Given the description of an element on the screen output the (x, y) to click on. 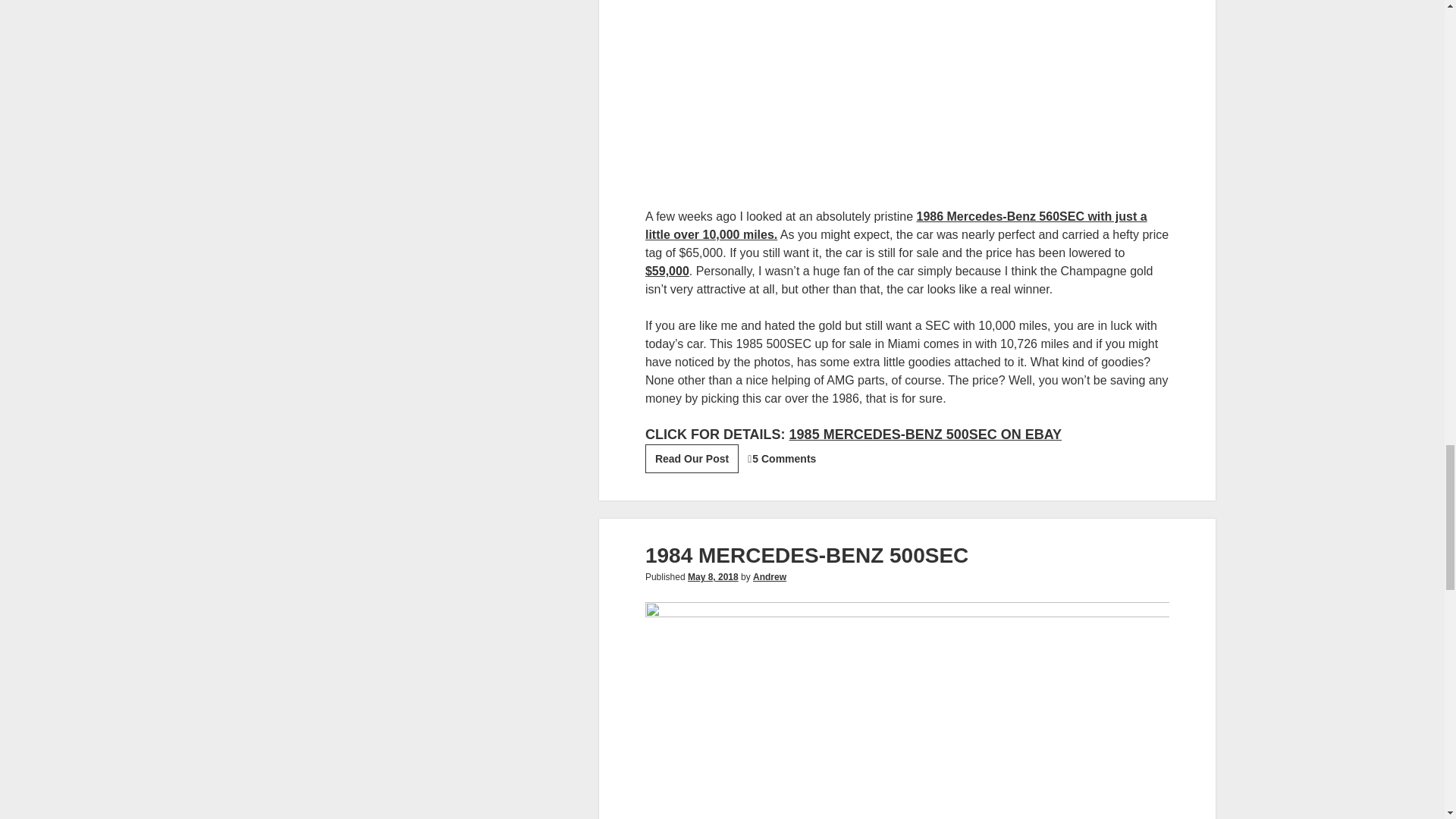
May 8, 2018 (691, 458)
5 Comments (712, 576)
1985 MERCEDES-BENZ 500SEC ON EBAY (783, 458)
1984 MERCEDES-BENZ 500SEC (925, 434)
